Given the description of an element on the screen output the (x, y) to click on. 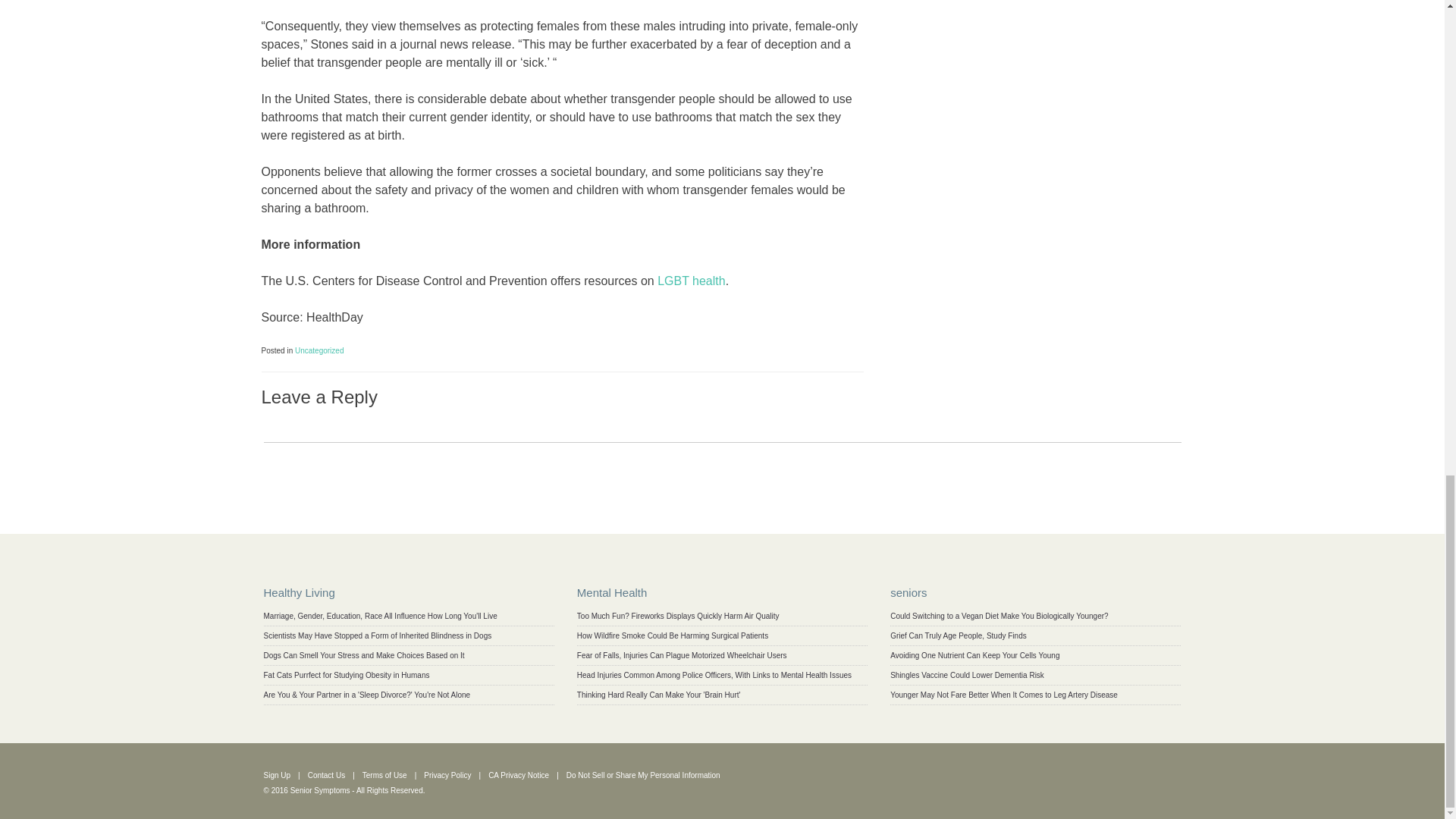
Contact Us (326, 775)
Grief Can Truly Age People, Study Finds (957, 635)
Sign Up (277, 775)
Do Not Sell or Share My Personal Information (643, 775)
CA Privacy Notice (517, 775)
Fat Cats Purrfect for Studying Obesity in Humans (346, 674)
Too Much Fun? Fireworks Displays Quickly Harm Air Quality (677, 615)
Thinking Hard Really Can Make Your 'Brain Hurt' (658, 695)
Avoiding One Nutrient Can Keep Your Cells Young (974, 655)
LGBT health (691, 280)
Privacy Policy (446, 775)
